Given the description of an element on the screen output the (x, y) to click on. 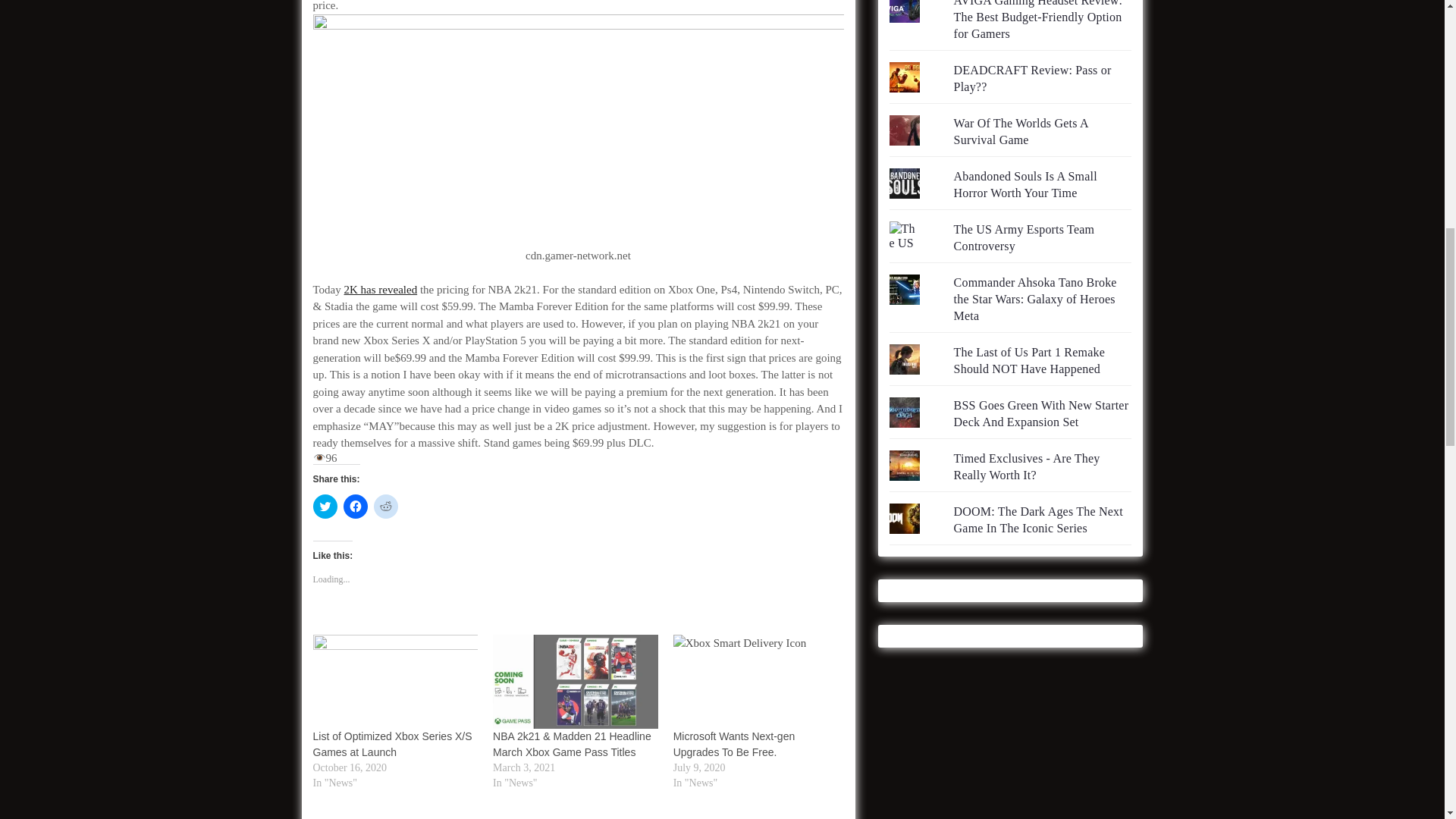
Microsoft Wants Next-gen Upgrades To Be Free. (755, 681)
Click to share on Reddit (384, 506)
2K has revealed (380, 289)
Microsoft Wants Next-gen Upgrades To Be Free. (733, 744)
Microsoft Wants Next-gen Upgrades To Be Free. (733, 744)
Click to share on Twitter (324, 506)
Click to share on Facebook (354, 506)
